Given the description of an element on the screen output the (x, y) to click on. 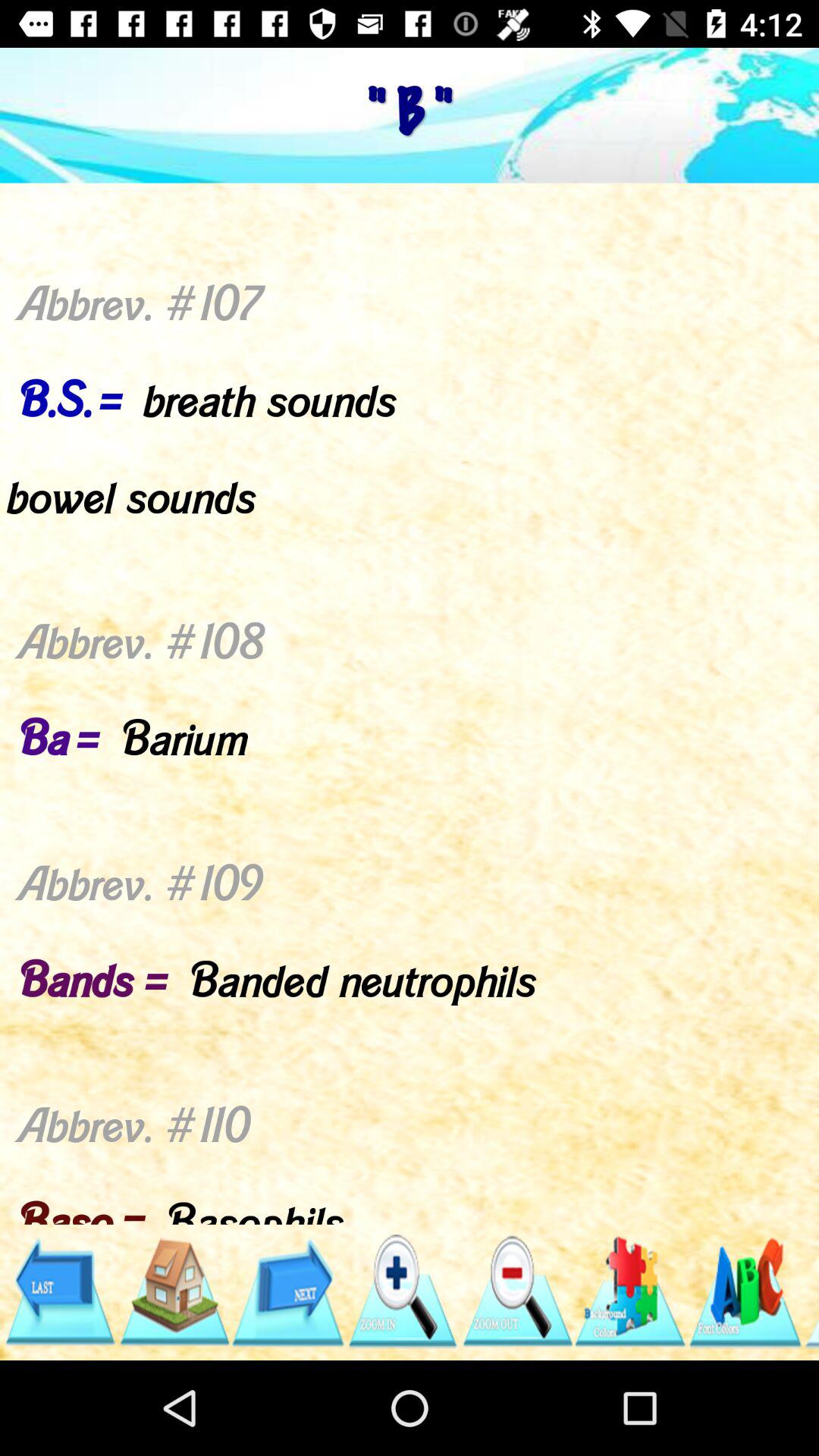
brings to home screen (173, 1291)
